Given the description of an element on the screen output the (x, y) to click on. 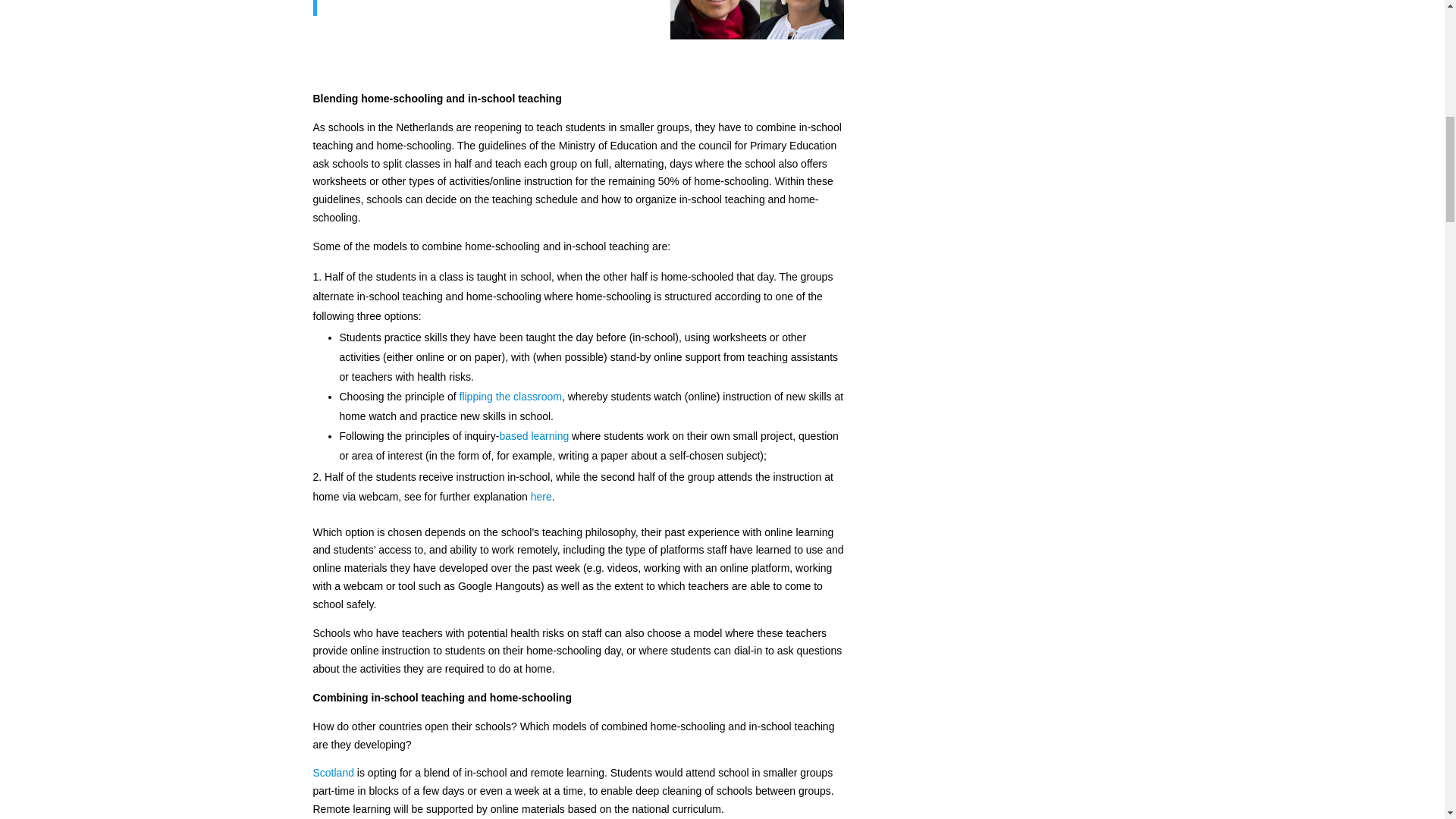
based learning (534, 435)
flipping the classroom (511, 396)
Scotland (333, 772)
here (541, 496)
